Given the description of an element on the screen output the (x, y) to click on. 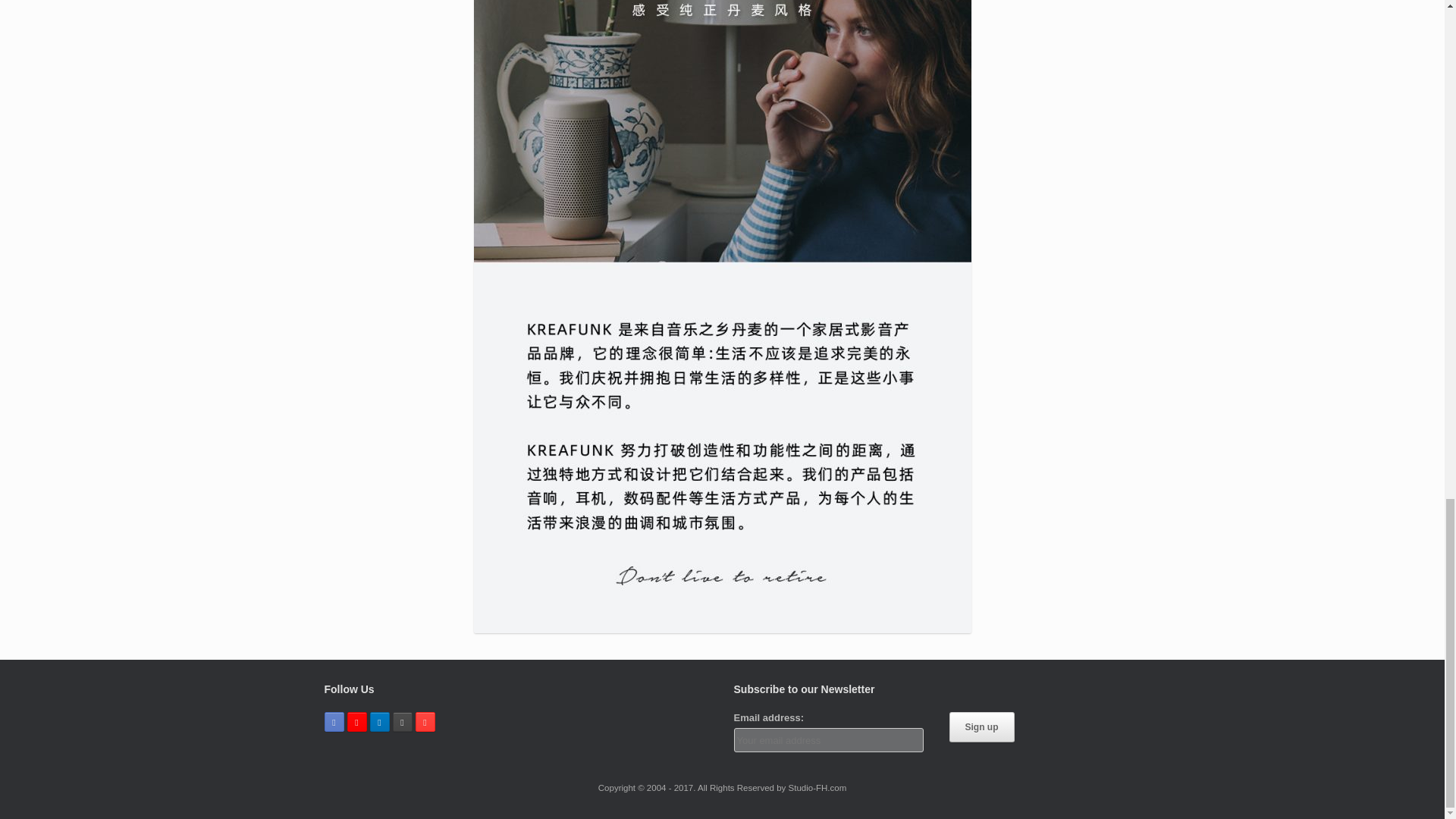
STUDIO FH LinkedIn (379, 721)
STUDIO FH Google Plus (356, 721)
STUDIO FH Facebook (333, 721)
STUDIO FH Flickr (402, 721)
STUDIO FH Pinterest (424, 721)
Sign up (981, 726)
